Given the description of an element on the screen output the (x, y) to click on. 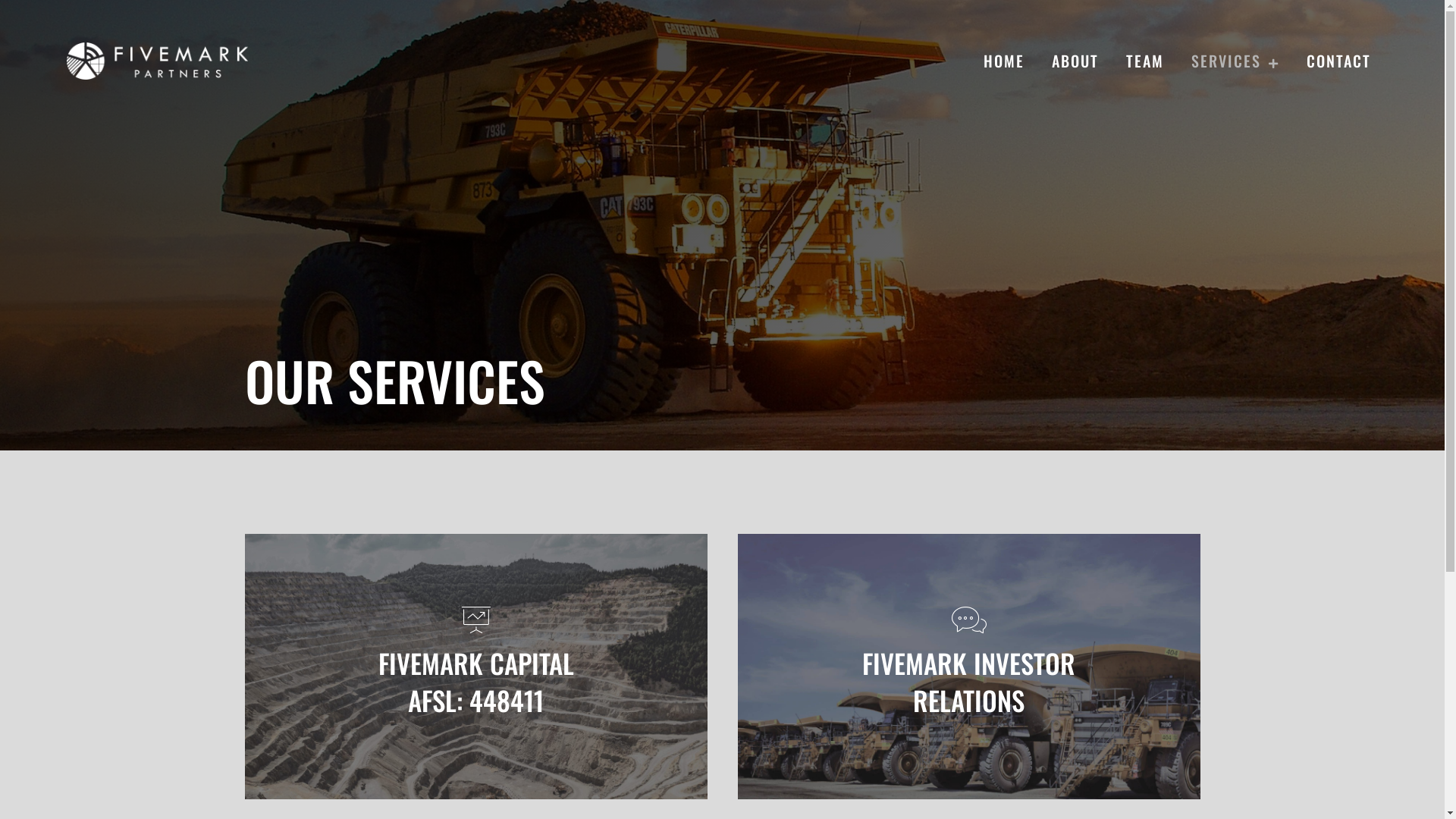
ABOUT Element type: text (1072, 60)
HOME Element type: text (1001, 60)
Fivemark transparent logo_horizontal Element type: hover (157, 61)
FIVEMARK CAPITAL
AFSL: 448411 Element type: text (475, 666)
CONTACT Element type: text (1336, 60)
SERVICES Element type: text (1232, 60)
TEAM Element type: text (1142, 60)
FIVEMARK INVESTOR
RELATIONS Element type: text (968, 666)
